Given the description of an element on the screen output the (x, y) to click on. 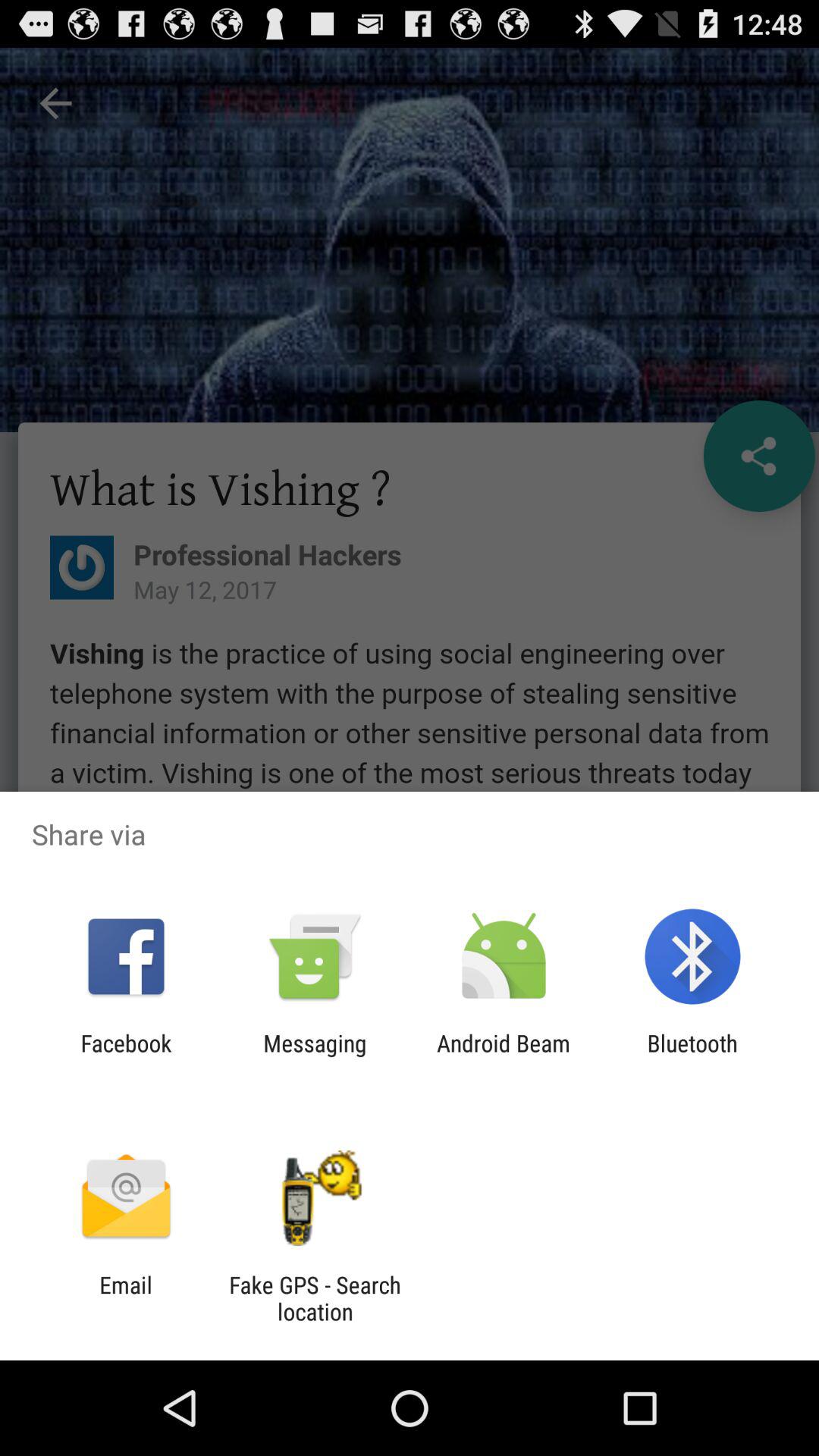
tap the android beam item (503, 1056)
